Given the description of an element on the screen output the (x, y) to click on. 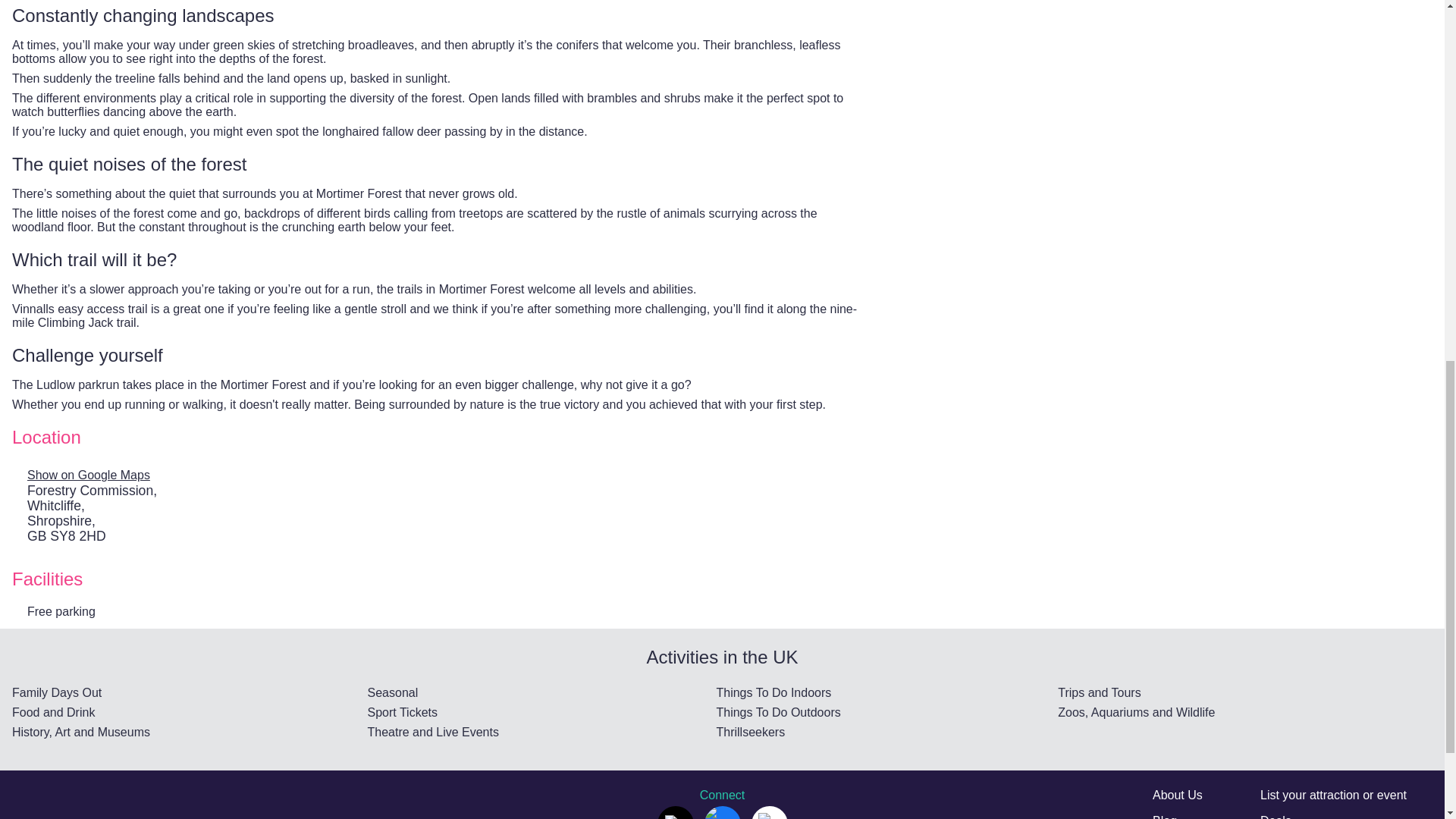
Facilities (437, 578)
About Us (1177, 794)
History, Art and Museums (189, 732)
List your attraction or event (1333, 794)
Things To Do Outdoors (887, 712)
Seasonal (542, 693)
Show on Google Maps (92, 475)
Trips and Tours (1245, 693)
Things To Do Indoors (887, 693)
Zoos, Aquariums and Wildlife (1245, 712)
